Given the description of an element on the screen output the (x, y) to click on. 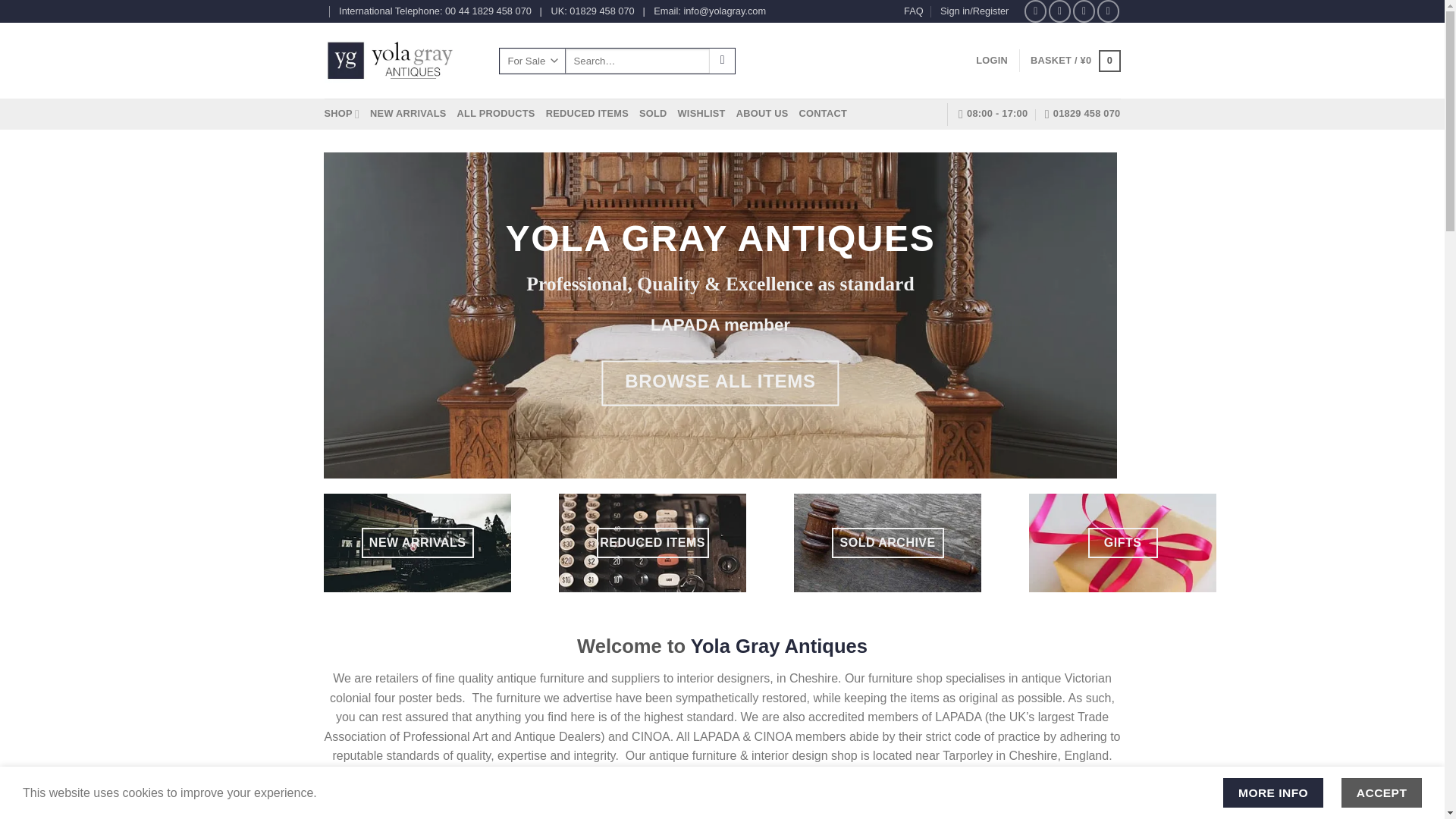
Follow on Instagram (1059, 11)
Follow on Facebook (1035, 11)
Basket (1075, 61)
Search (722, 60)
SHOP (341, 113)
Follow on Pinterest (1108, 11)
LOGIN (991, 60)
Follow on Twitter (1083, 11)
View Our New Stock In One Place (407, 113)
View All Our Items For Sale In One Place (496, 113)
Login (991, 60)
